Given the description of an element on the screen output the (x, y) to click on. 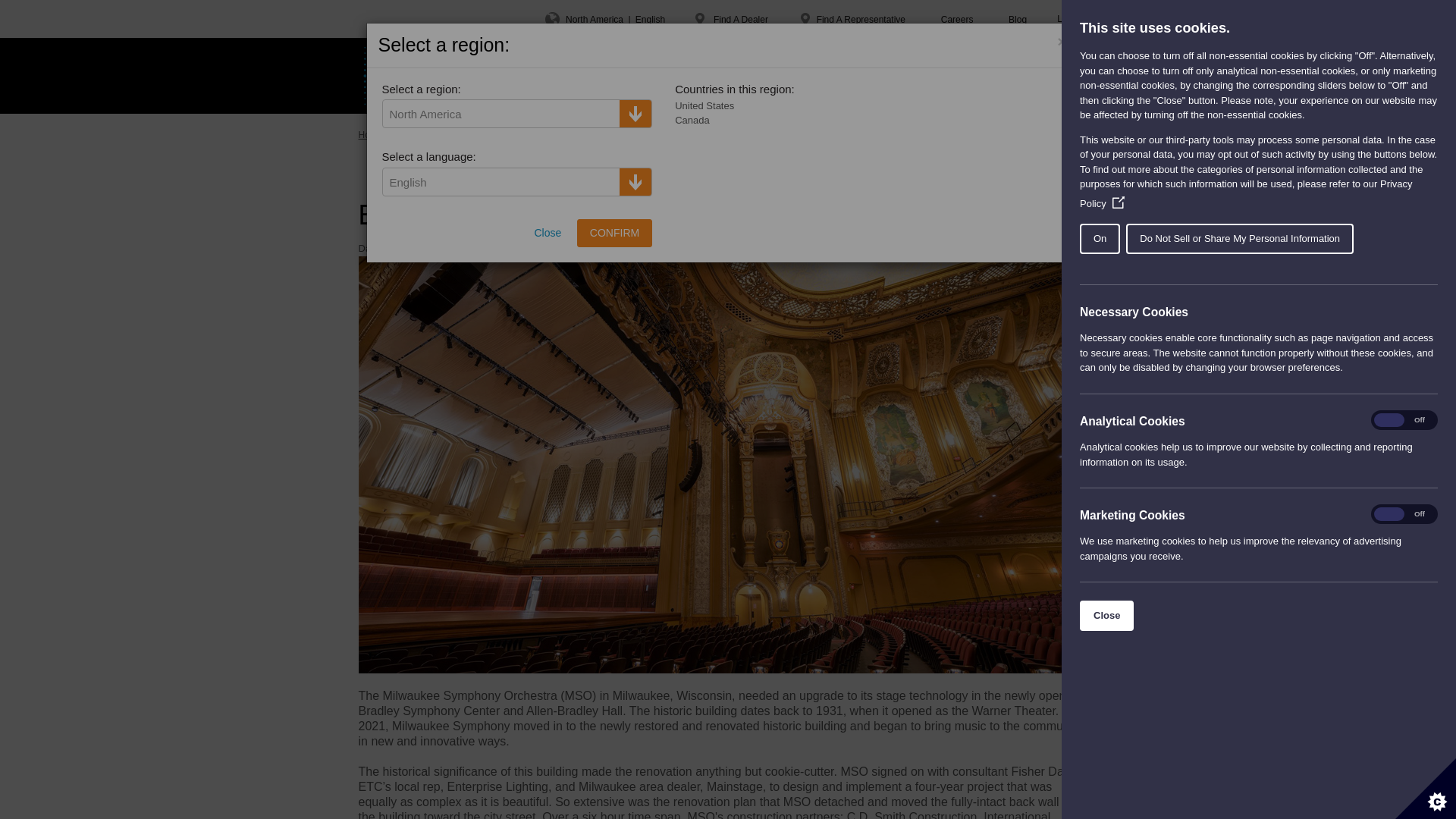
Select your region and Language (605, 18)
Confirm (614, 232)
News (464, 134)
ETC Home (395, 75)
ABOUT ETC (740, 75)
Close (1340, 615)
About ETC (418, 134)
See all ETC products (809, 134)
Print this page (891, 134)
PRODUCTS (492, 75)
